Given the description of an element on the screen output the (x, y) to click on. 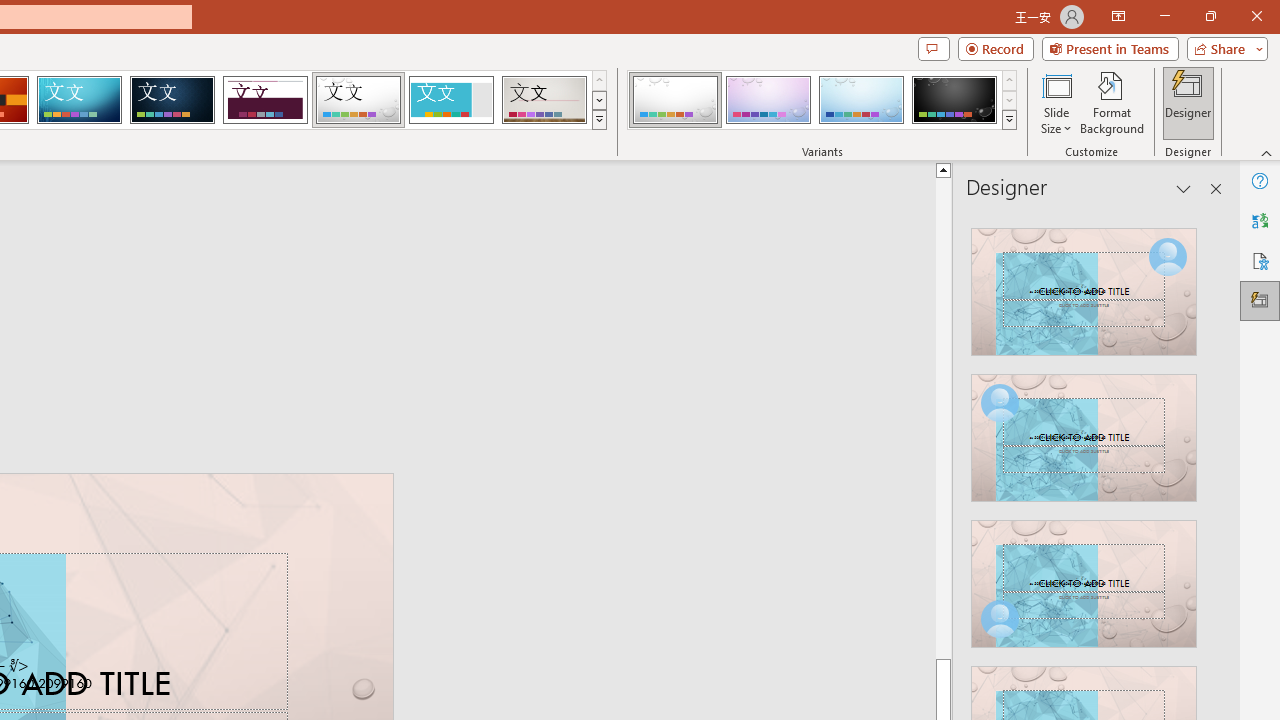
Droplet Variant 2 (768, 100)
Recommended Design: Design Idea (1083, 286)
Format Background (1111, 102)
Droplet (358, 100)
Droplet Variant 4 (953, 100)
